Given the description of an element on the screen output the (x, y) to click on. 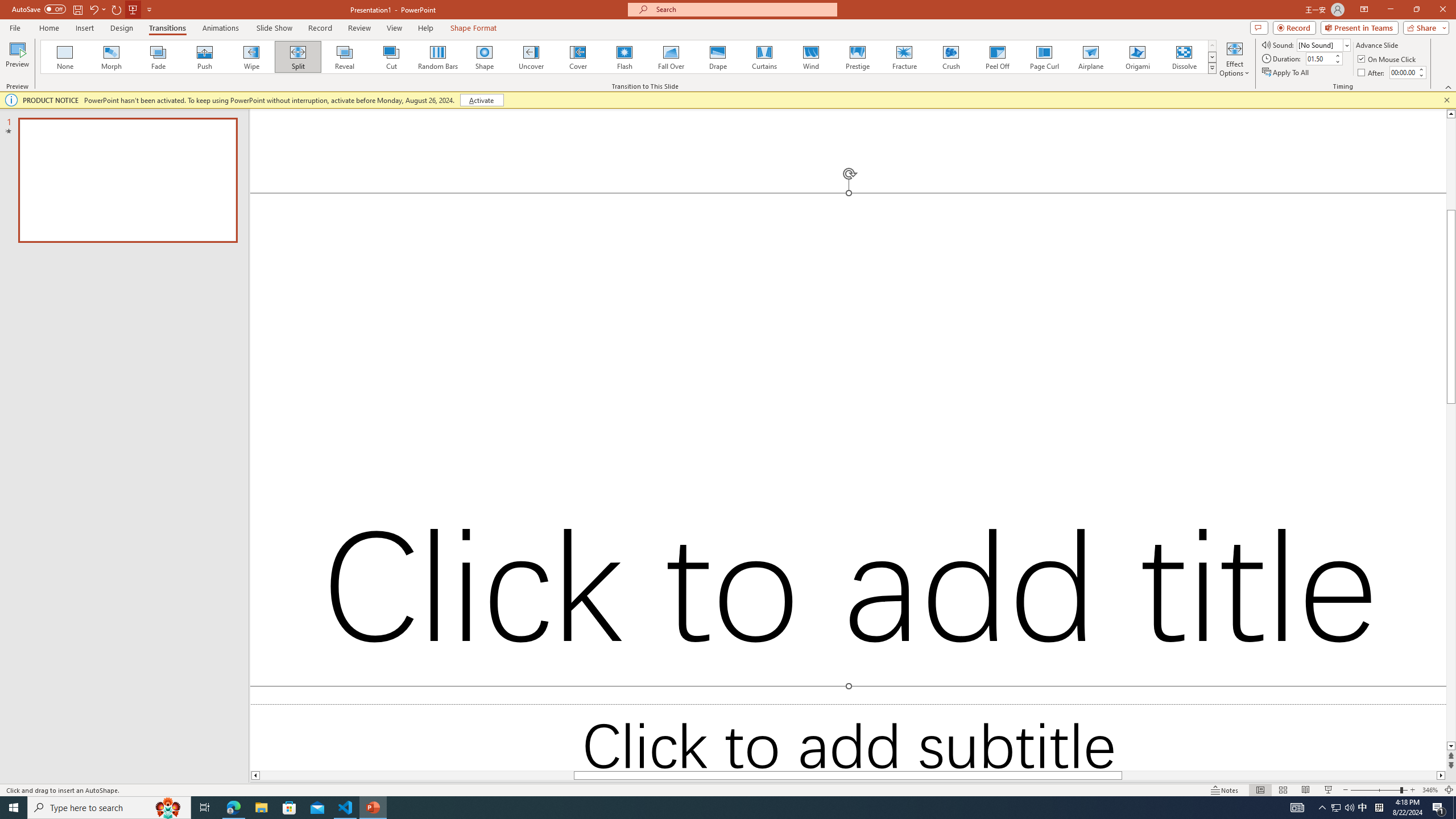
Duration (1319, 58)
Airplane (1090, 56)
Cover (577, 56)
Close this message (1446, 99)
